Given the description of an element on the screen output the (x, y) to click on. 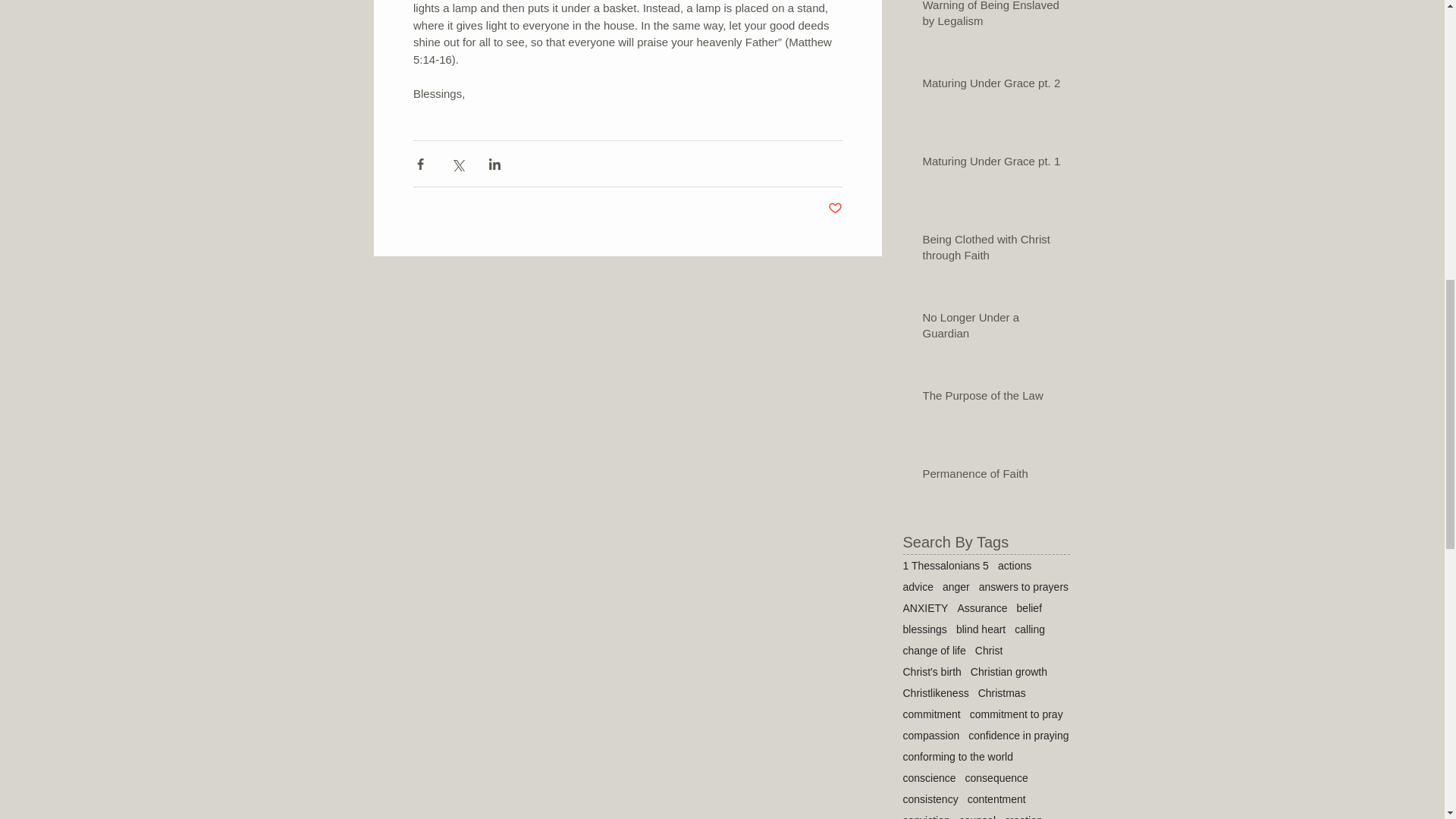
Christ (989, 650)
Post not marked as liked (835, 208)
ANXIETY (924, 607)
actions (1013, 565)
answers to prayers (1023, 586)
Maturing Under Grace pt. 2 (990, 86)
Assurance (981, 607)
Being Clothed with Christ through Faith (990, 249)
No Longer Under a Guardian (990, 328)
Permanence of Faith (990, 476)
